Given the description of an element on the screen output the (x, y) to click on. 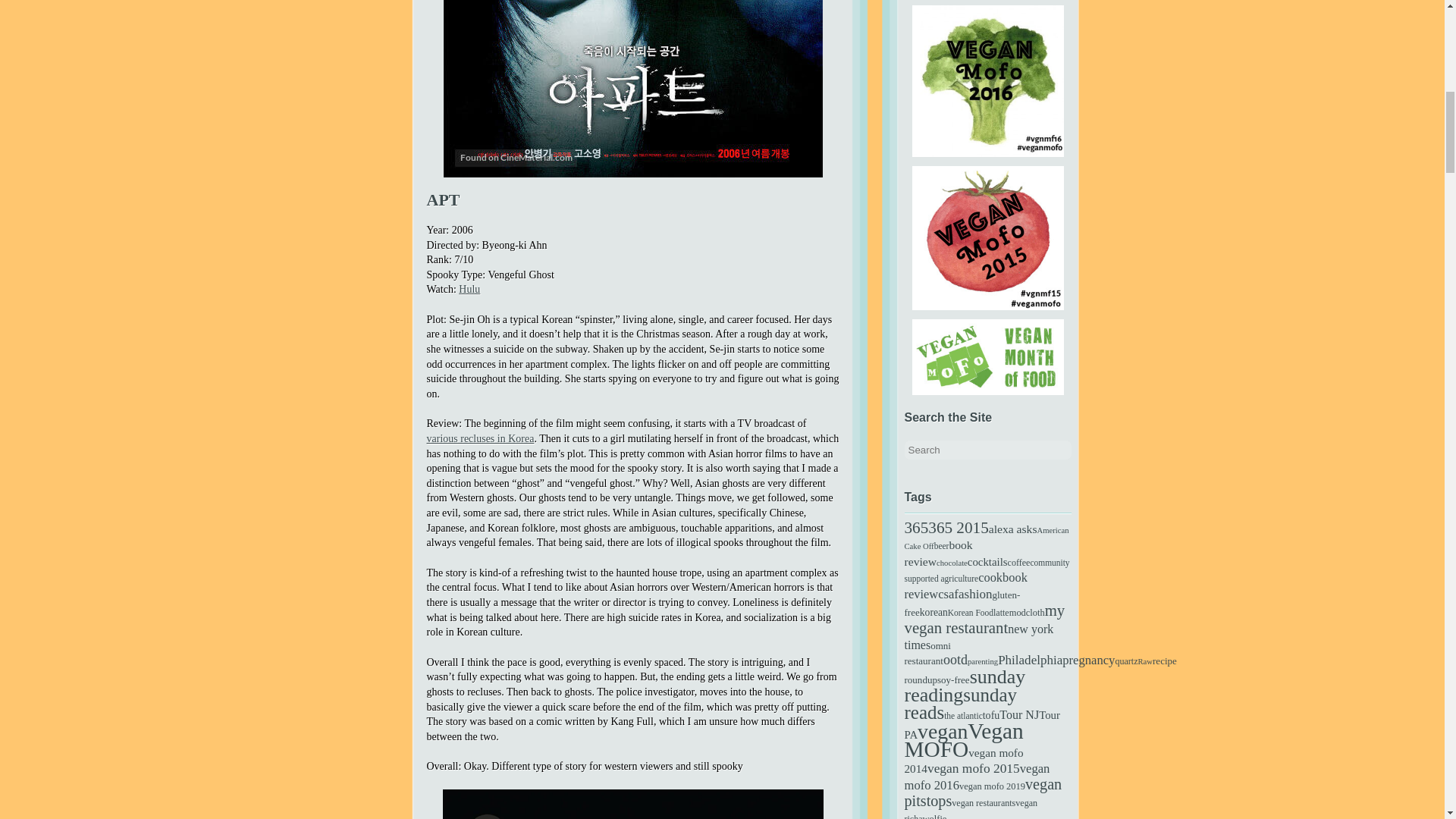
various recluses in Korea (480, 438)
Hulu (469, 288)
